Given the description of an element on the screen output the (x, y) to click on. 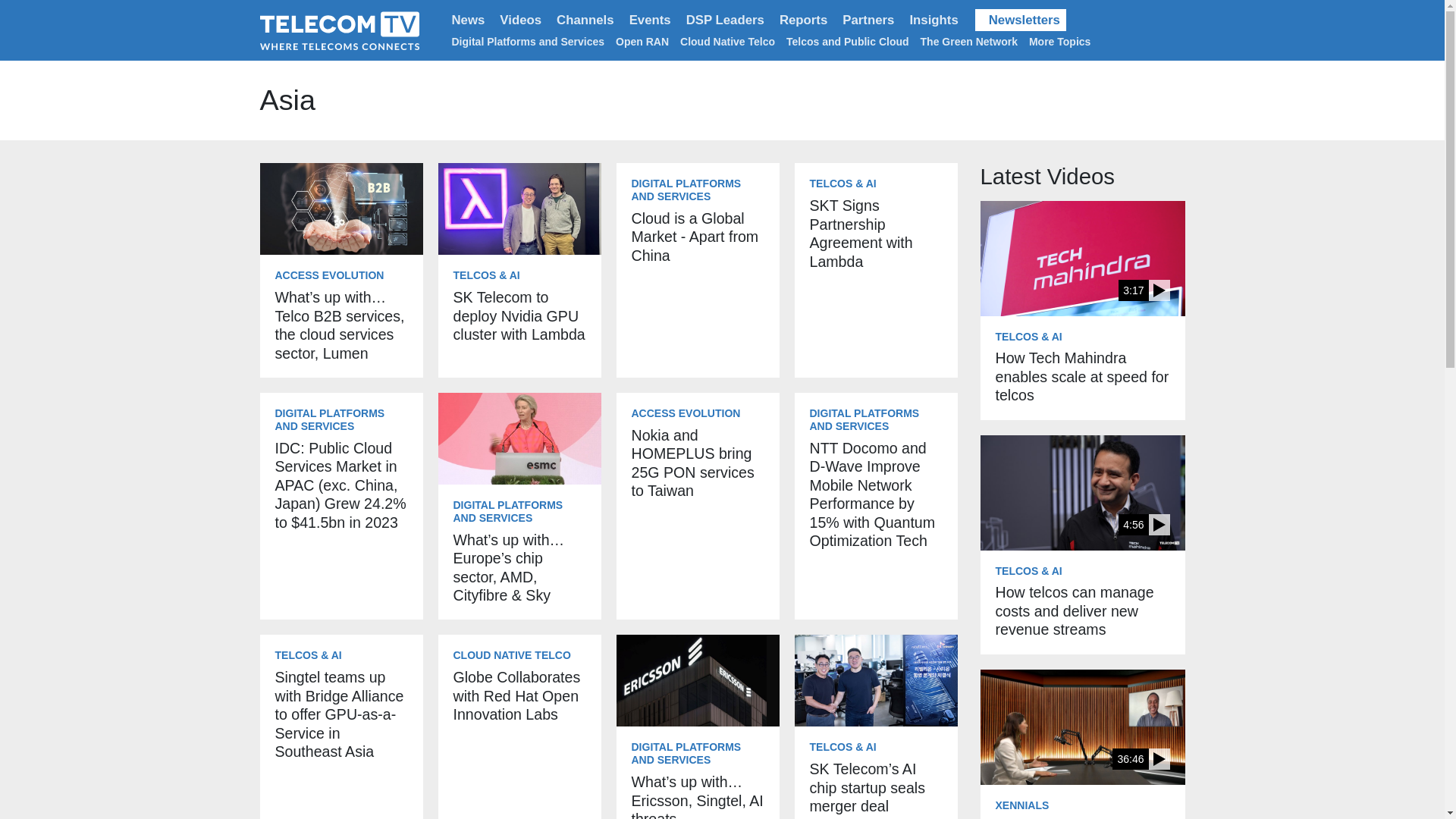
Open RAN (641, 41)
Partners (867, 20)
Events (650, 20)
The Green Network (968, 41)
Newsletters (1020, 20)
Telcos and Public Cloud (847, 41)
Channels (585, 20)
Insights (932, 20)
Videos (520, 20)
